Given the description of an element on the screen output the (x, y) to click on. 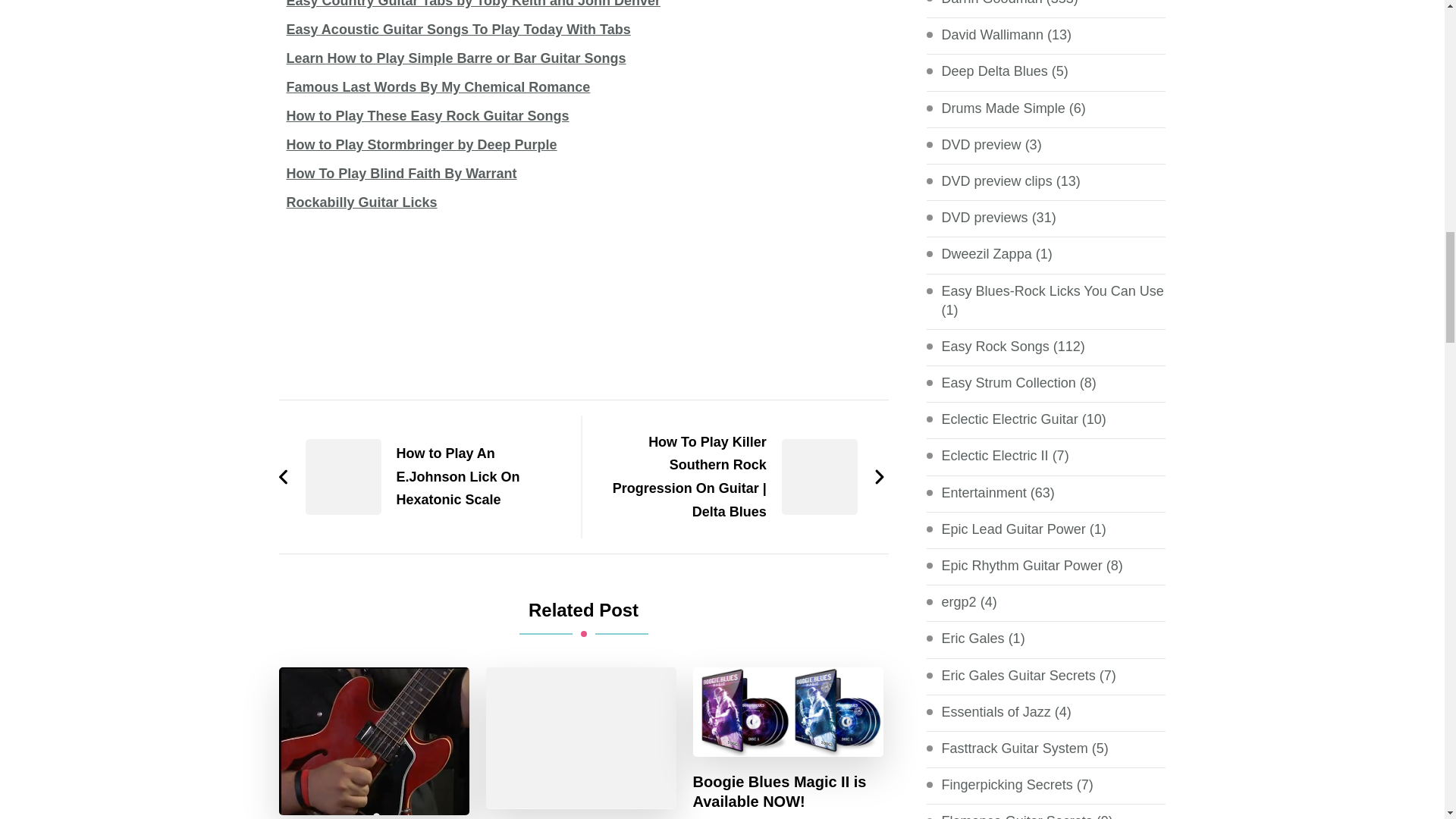
Famous Last Words By My Chemical Romance (438, 87)
How To Play Blind Faith By Warrant (401, 173)
How to Play An E.Johnson Lick On Hexatonic Scale (421, 476)
Easy Country Guitar Tabs by Toby Keith and John Denver (473, 4)
Easy Acoustic Guitar Songs To Play Today With Tabs (458, 29)
How to Play Stormbringer by Deep Purple (421, 144)
Rockabilly Guitar Licks (362, 201)
Learn How to Play Simple Barre or Bar Guitar Songs (456, 58)
How to Play These Easy Rock Guitar Songs (427, 115)
